Given the description of an element on the screen output the (x, y) to click on. 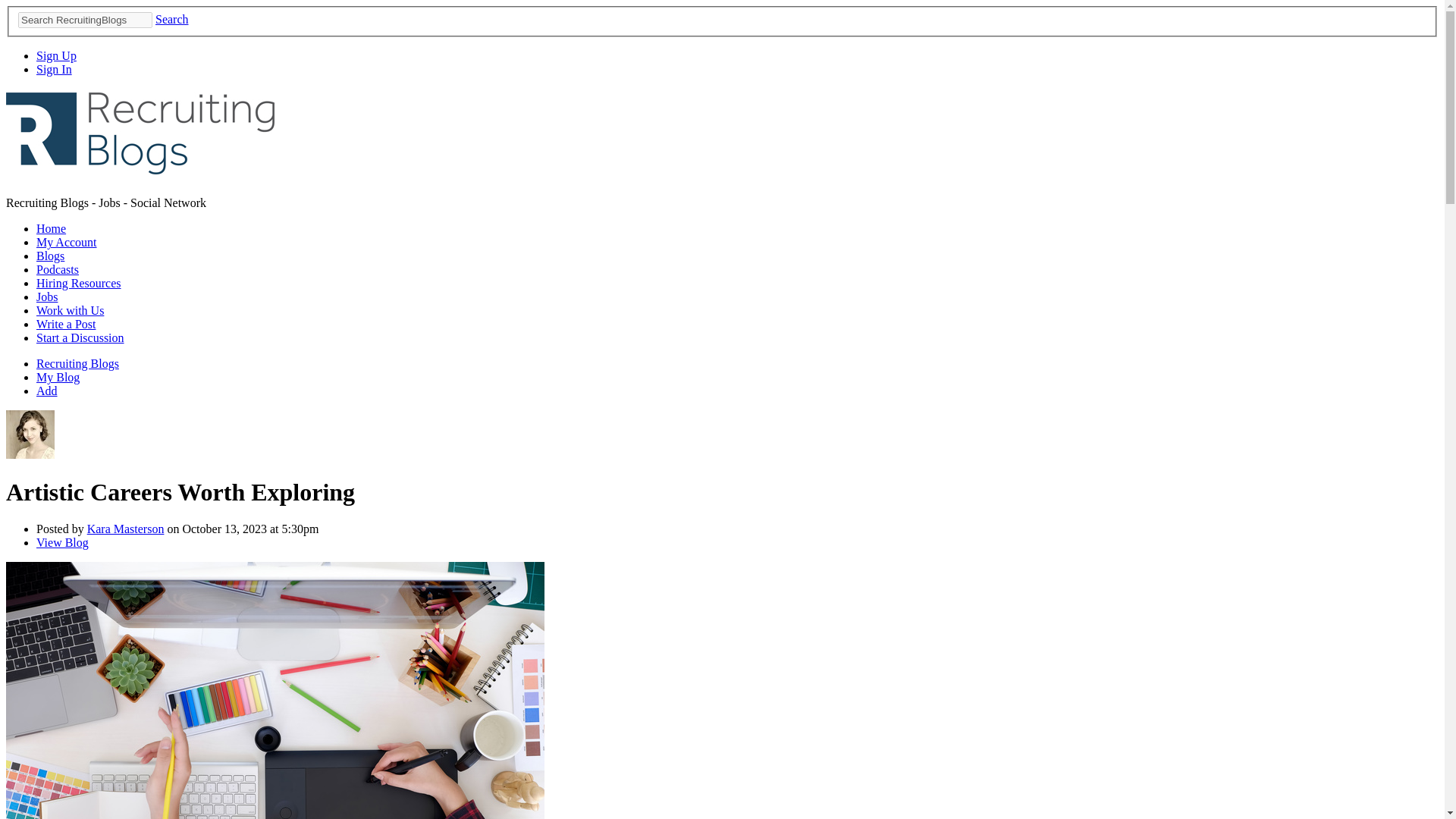
My Account (66, 241)
Work with Us (69, 309)
Kara Masterson (30, 454)
Kara Masterson (125, 528)
Sign Up (56, 55)
Recruiting Blogs (77, 363)
View Blog (62, 542)
Blogs (50, 255)
Sign In (53, 69)
Hiring Resources (78, 282)
Posted by (61, 528)
Write a Post (66, 323)
Search RecruitingBlogs (84, 19)
Podcasts (57, 269)
Jobs (47, 296)
